Given the description of an element on the screen output the (x, y) to click on. 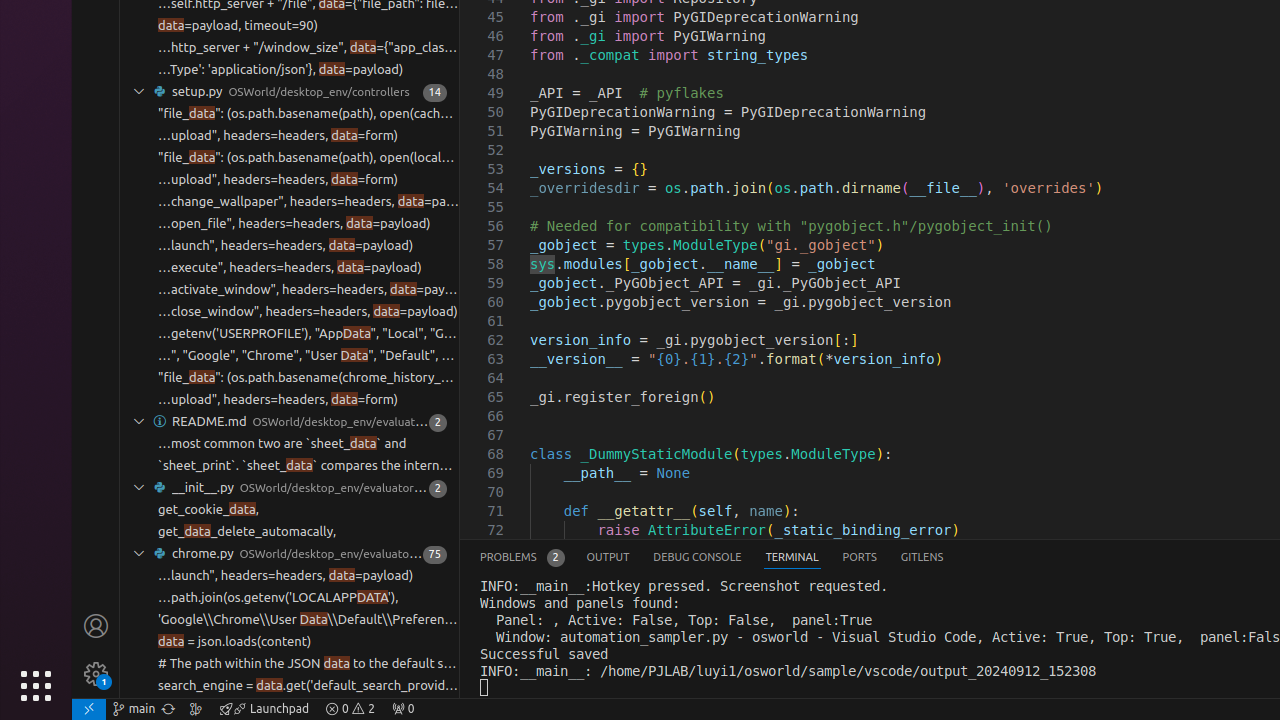
Warnings: 2 Element type: push-button (350, 709)
OSWorld (Git) - main, Checkout Branch/Tag... Element type: push-button (134, 709)
' response = requests.post(self.http_server + "/setup" + "/execute", headers=headers, data=payload)' at column 101 found data Element type: tree-item (289, 267)
# The path within the JSON data to the default search engine might vary Element type: link (308, 663)
GitLens Element type: page-tab (922, 557)
